Given the description of an element on the screen output the (x, y) to click on. 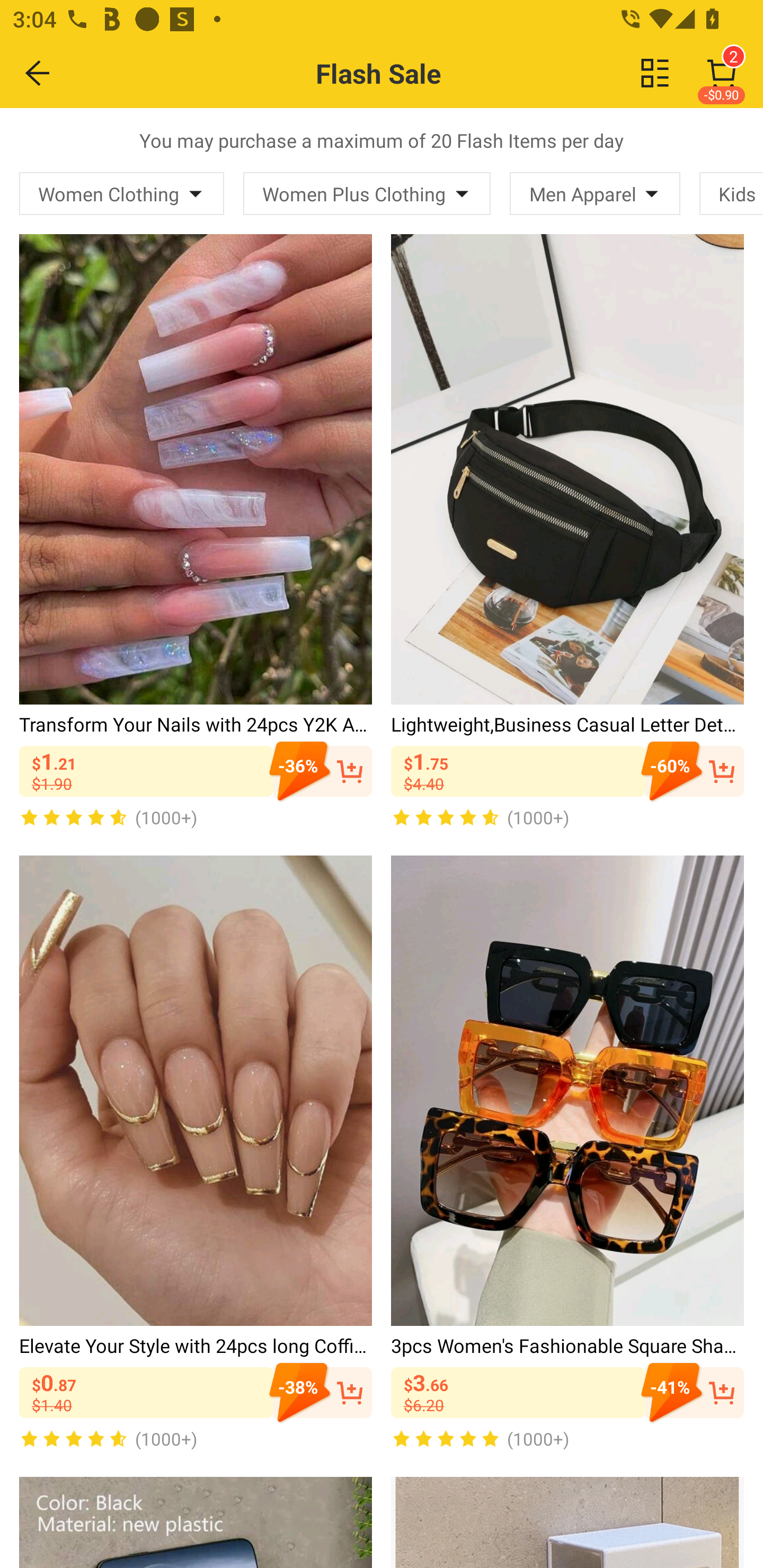
Flash Sale change view 2 -$0.90 (419, 72)
2 -$0.90 (721, 72)
change view (654, 72)
BACK (38, 72)
Women Clothing (121, 193)
Women Plus Clothing (366, 193)
Men Apparel (594, 193)
